Given the description of an element on the screen output the (x, y) to click on. 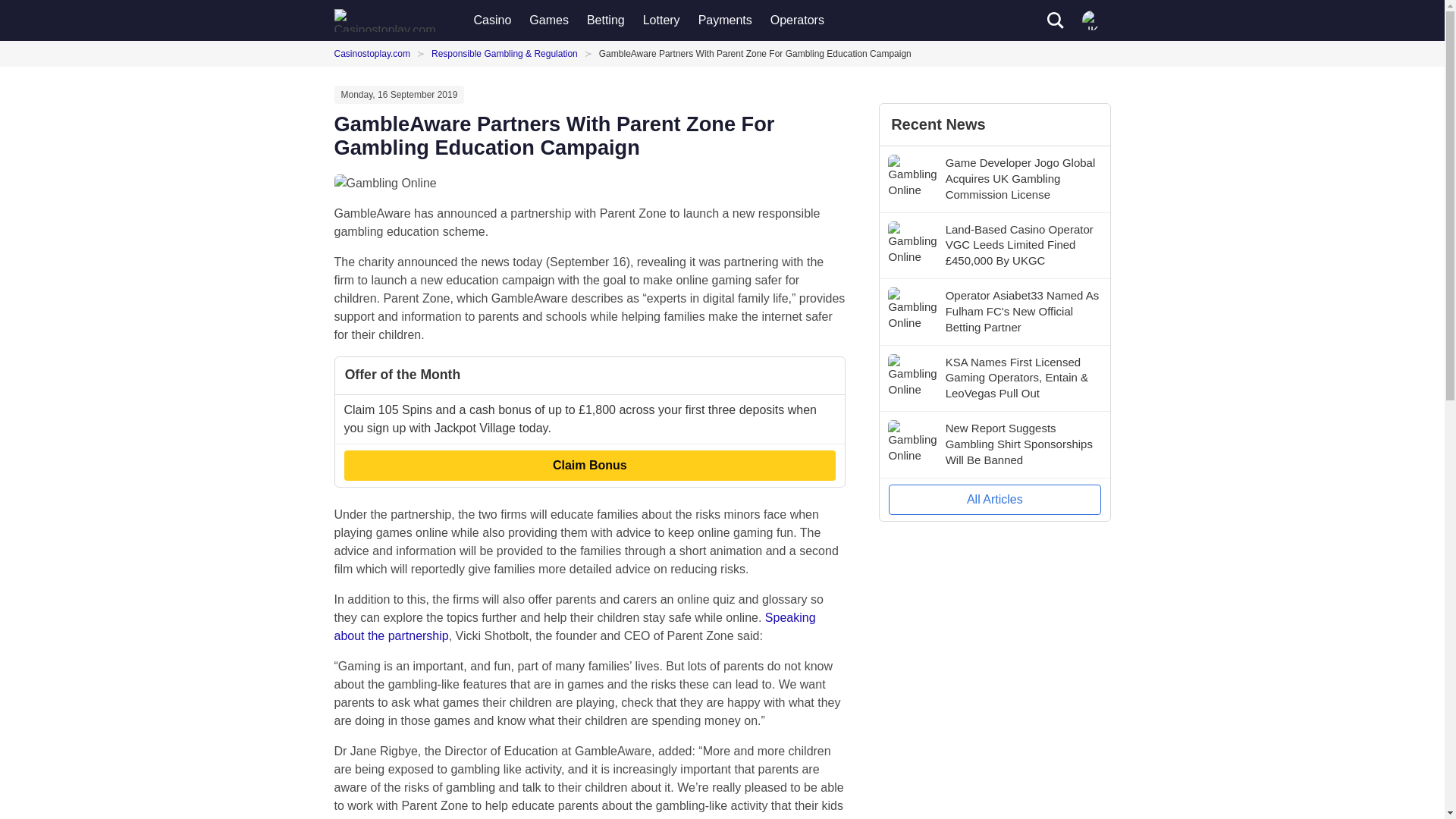
Speaking about the partnership (574, 626)
Casinostoplay.com Logo (386, 20)
Casinostoplay.com (374, 53)
Claim Bonus (589, 465)
